Given the description of an element on the screen output the (x, y) to click on. 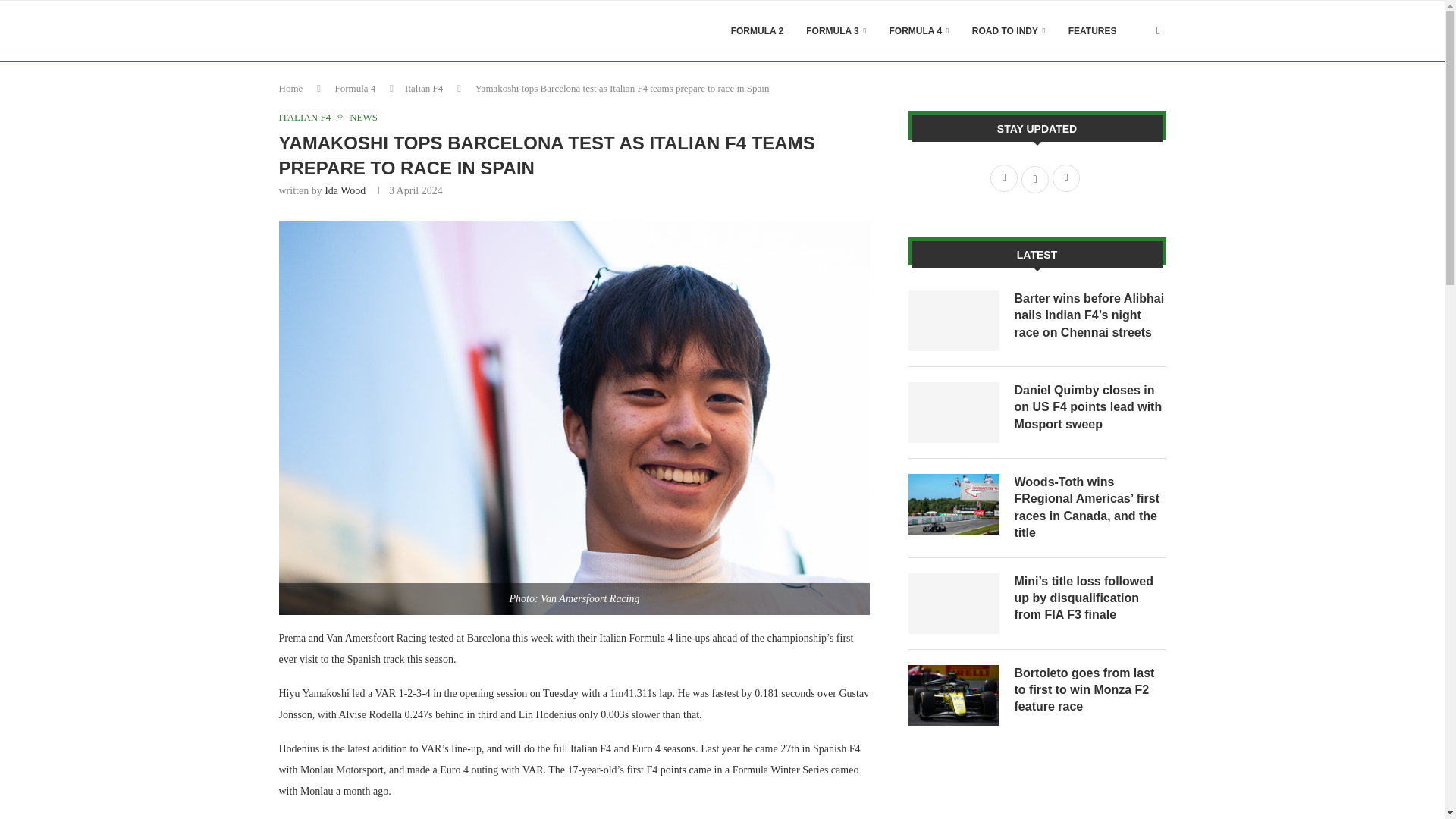
FORMULA 3 (836, 30)
Ida Wood (344, 190)
NEWS (363, 117)
ITALIAN F4 (309, 117)
Italian F4 (423, 88)
FORMULA 4 (919, 30)
ROAD TO INDY (1008, 30)
Formula 4 (354, 88)
